Given the description of an element on the screen output the (x, y) to click on. 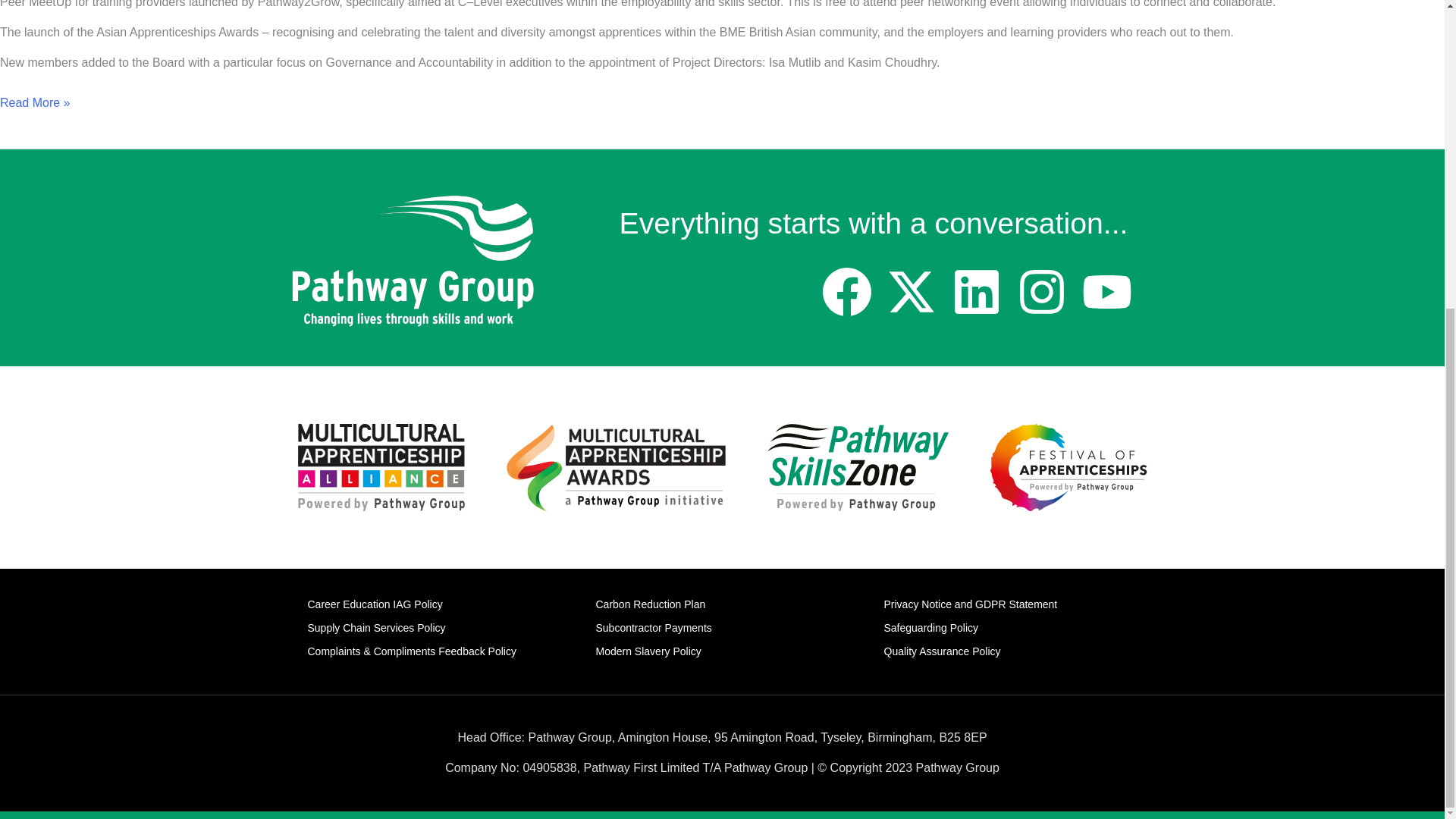
Follow Pathway on Instagram (1048, 299)
Pathway Group (411, 261)
Follow Pathway on X (919, 299)
Festival of Apprenticeships (1068, 467)
Multicultural Apprenticeship Awards (615, 467)
Pathway SkillsZone (858, 467)
Follow Pathway Group on Social Media,alt (984, 299)
Follow Pathway on Facebook (854, 299)
Multicultural Apprenticeship Alliance (380, 467)
Follow Pathway on Youtube (1114, 299)
Follow Pathway on Linked In (984, 299)
